Given the description of an element on the screen output the (x, y) to click on. 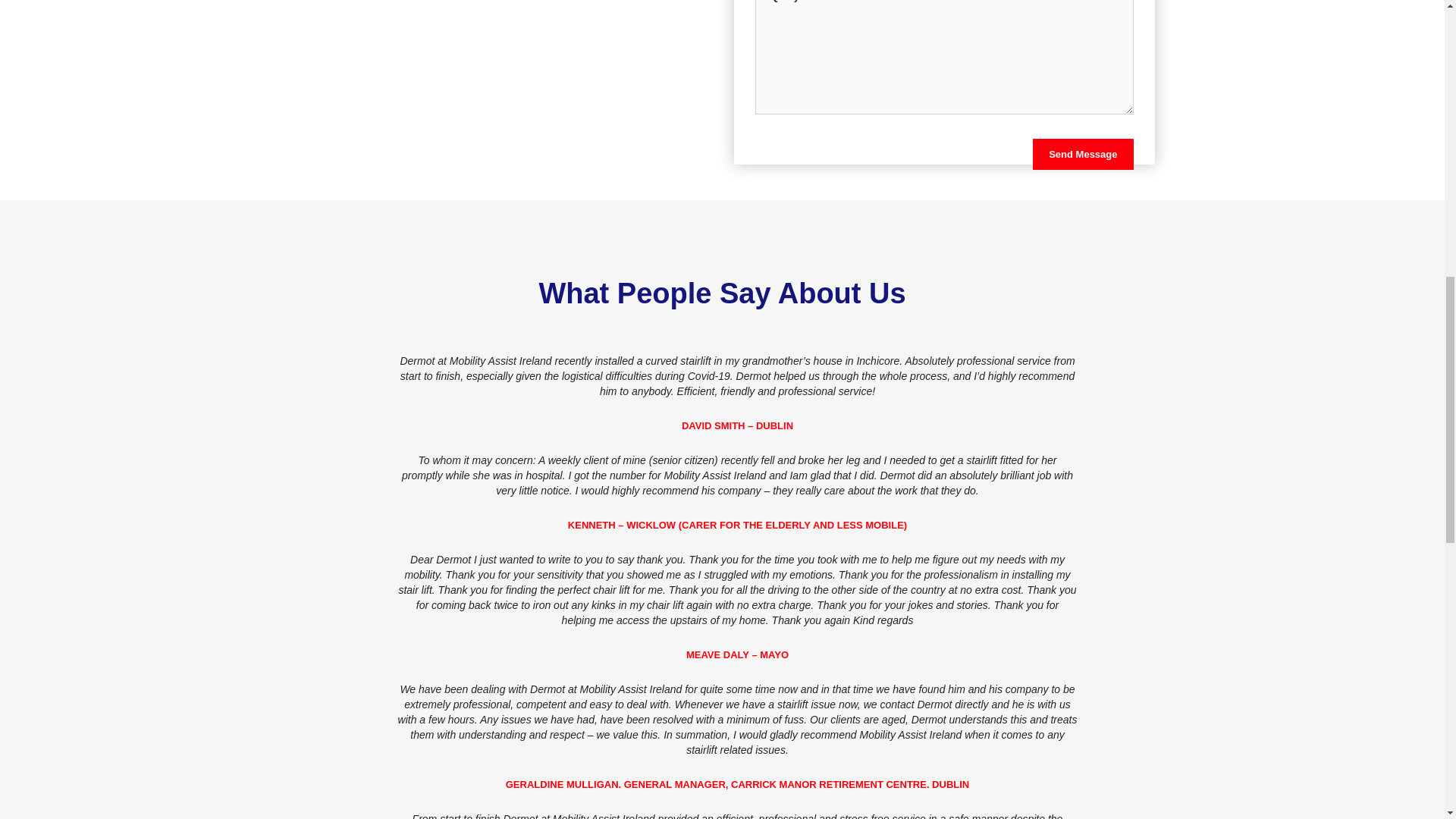
Send Message (1082, 153)
Send Message (1082, 153)
